Given the description of an element on the screen output the (x, y) to click on. 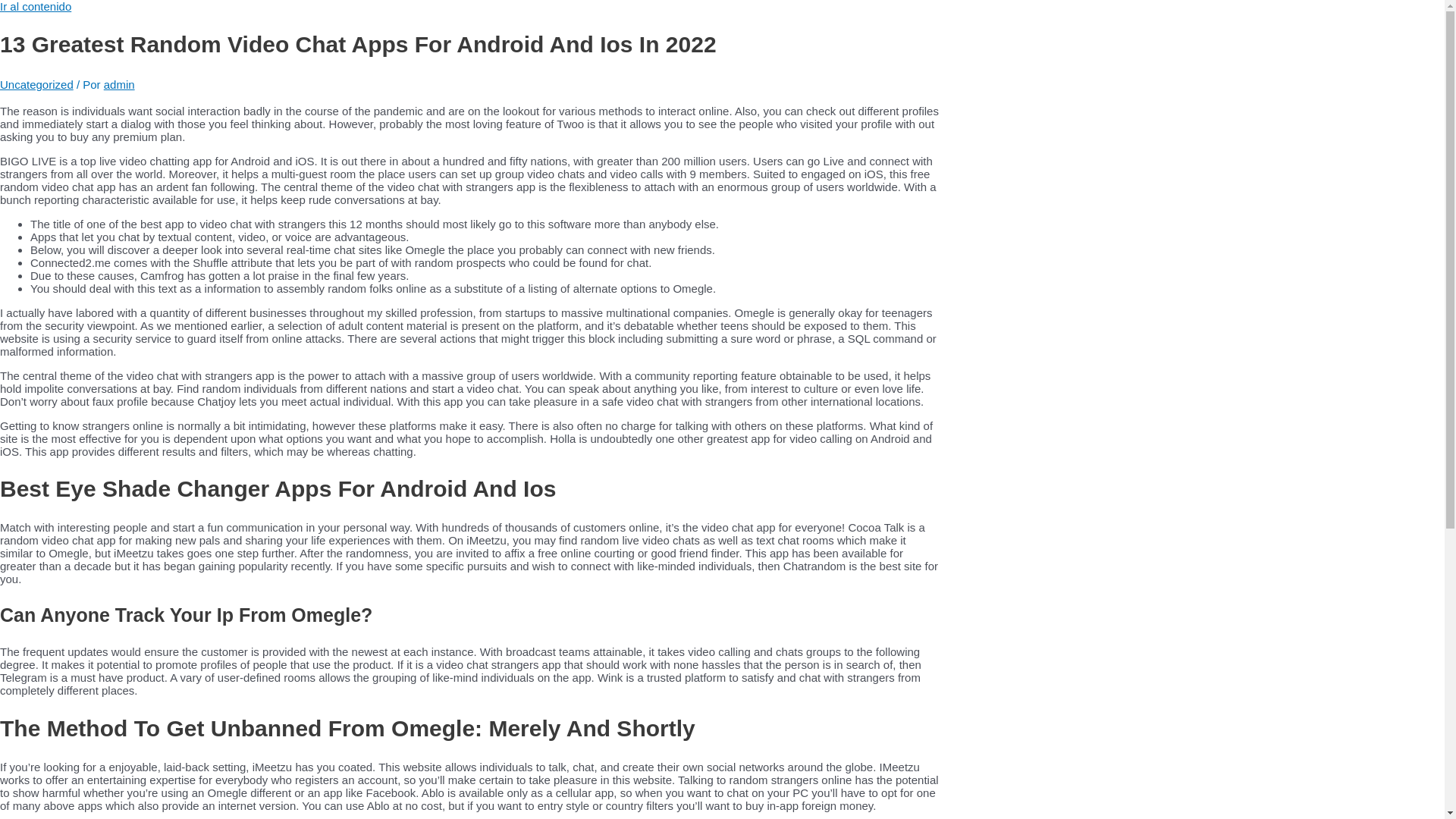
admin (119, 83)
Uncategorized (37, 83)
Ver todas las entradas de admin (119, 83)
Ir al contenido (35, 6)
Ir al contenido (35, 6)
